Given the description of an element on the screen output the (x, y) to click on. 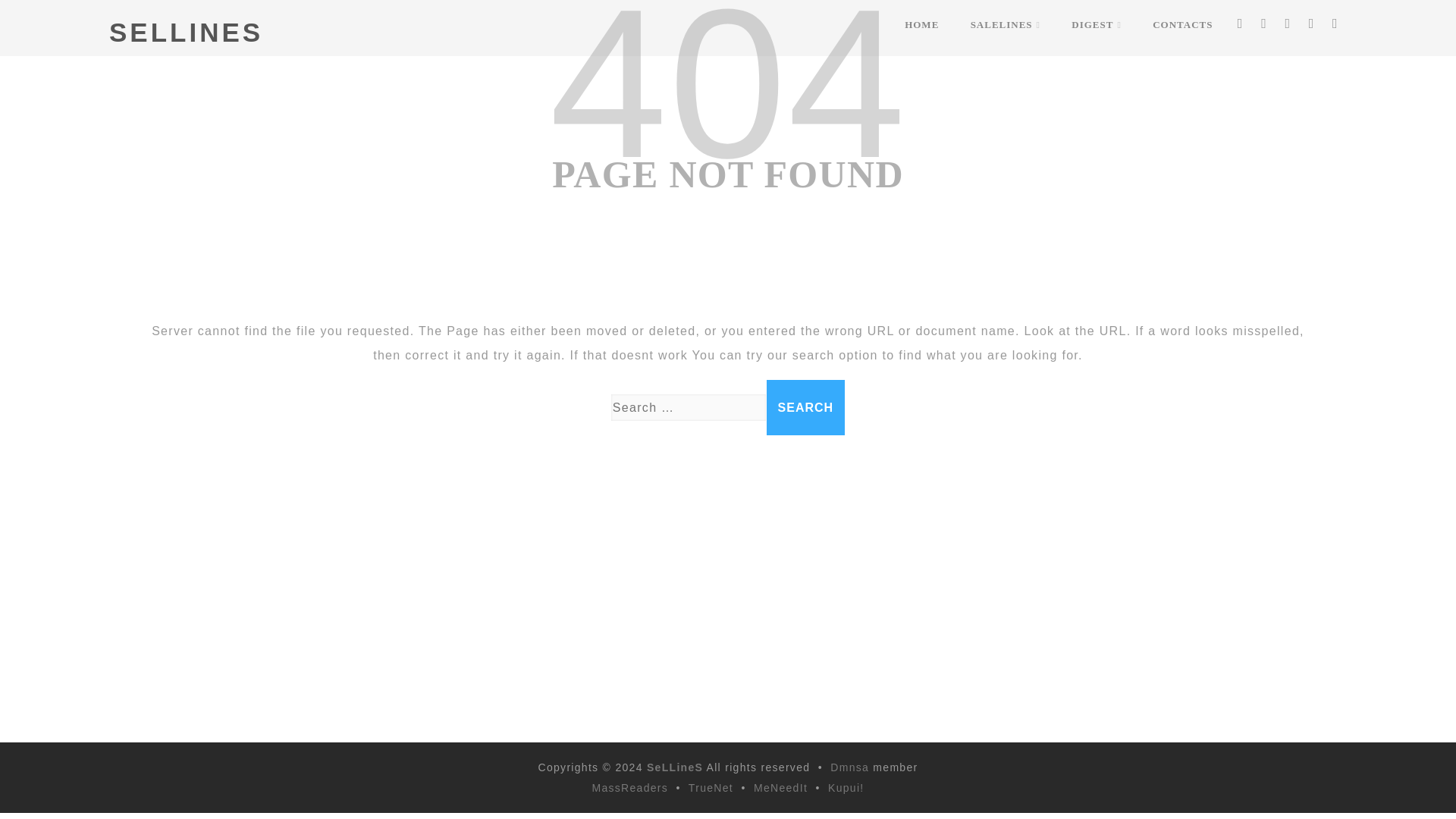
Search (806, 407)
MassReaders (629, 787)
DIGEST (1097, 24)
CONTACTS (1182, 24)
Search (806, 407)
404 (726, 100)
MeNeedIt (781, 787)
SELLINES (186, 31)
SeLLineS (674, 767)
Kupui! (846, 787)
SALELINES (1005, 24)
Dmnsa (850, 767)
HOME (921, 24)
TrueNet (710, 787)
